Given the description of an element on the screen output the (x, y) to click on. 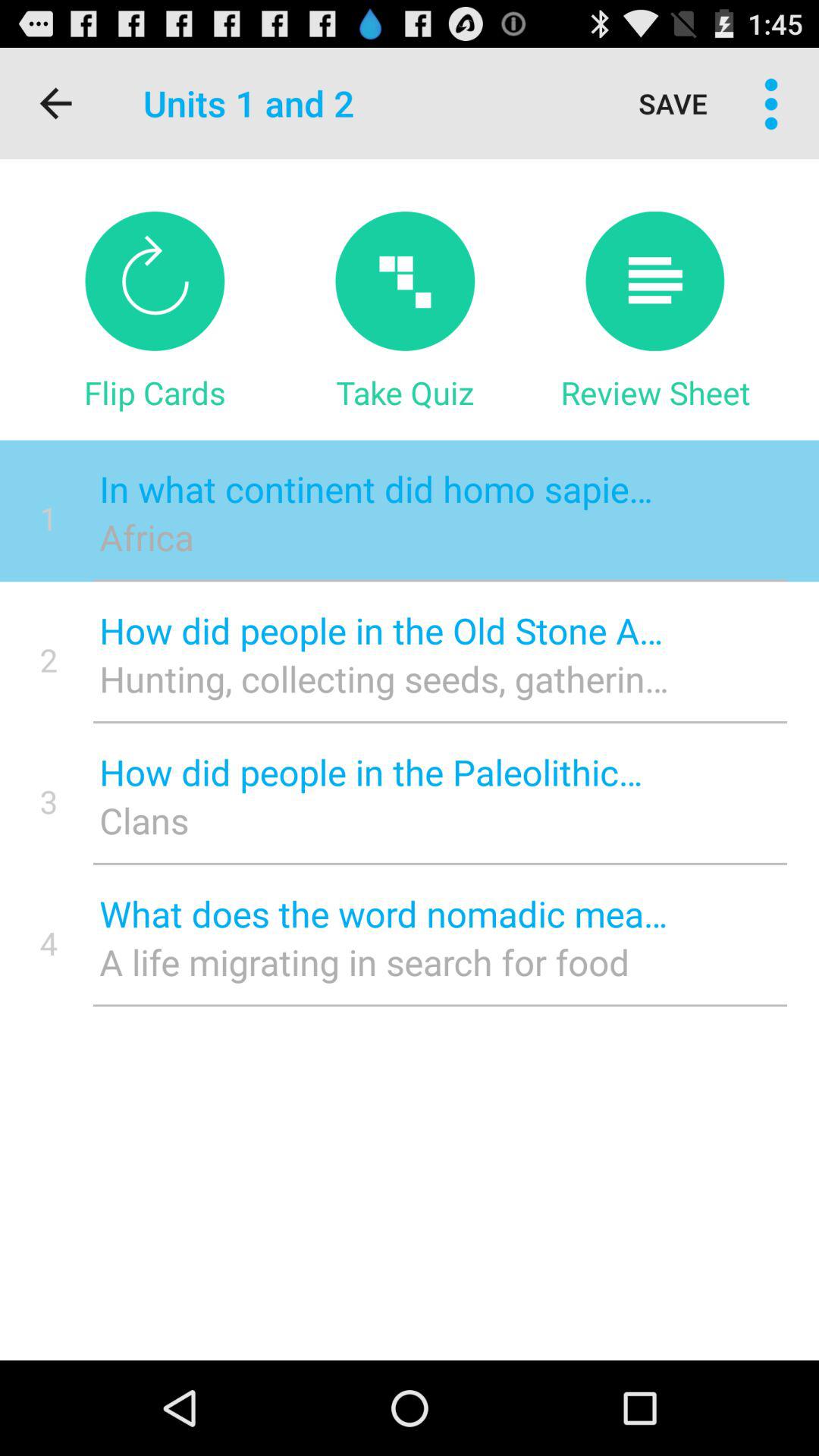
launch the icon next to review sheet item (405, 392)
